Given the description of an element on the screen output the (x, y) to click on. 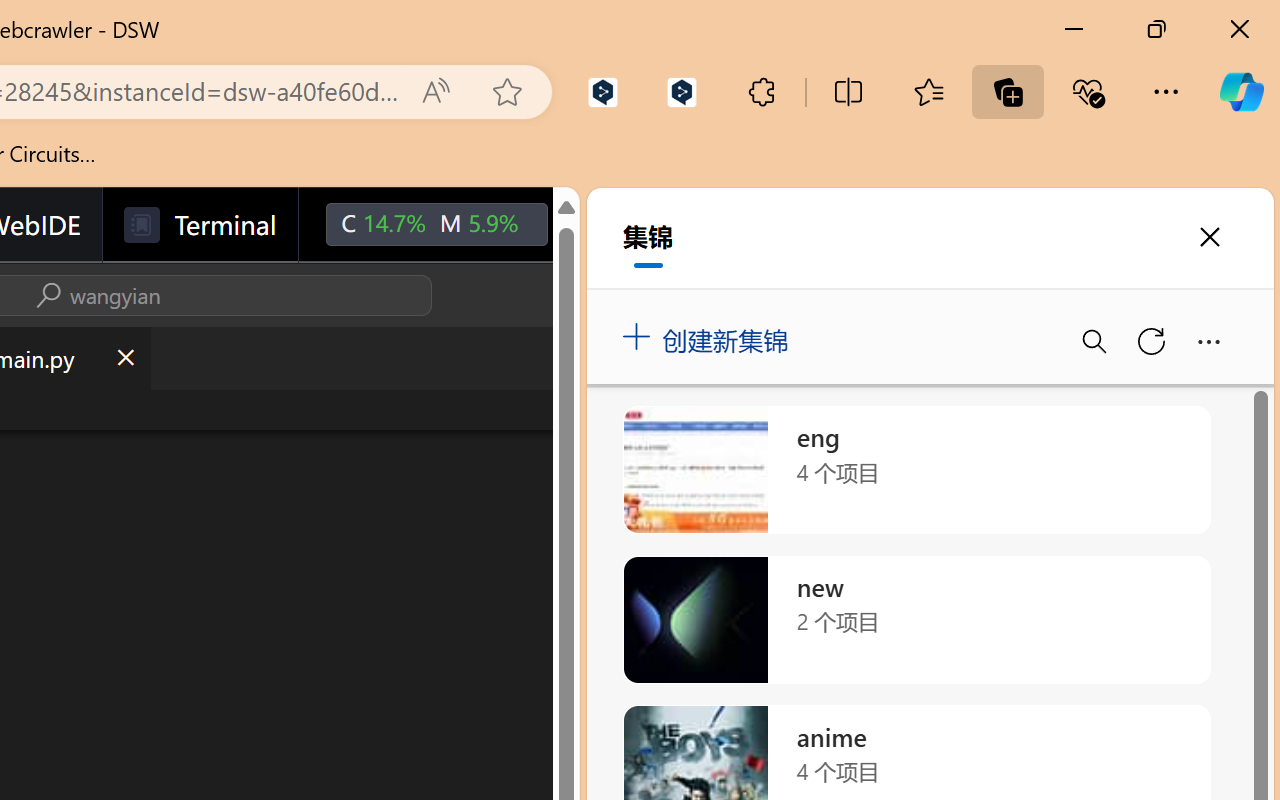
icon (591, 220)
Class: actions-container (94, 295)
Close (Ctrl+F4) (124, 358)
Terminal (199, 225)
